Given the description of an element on the screen output the (x, y) to click on. 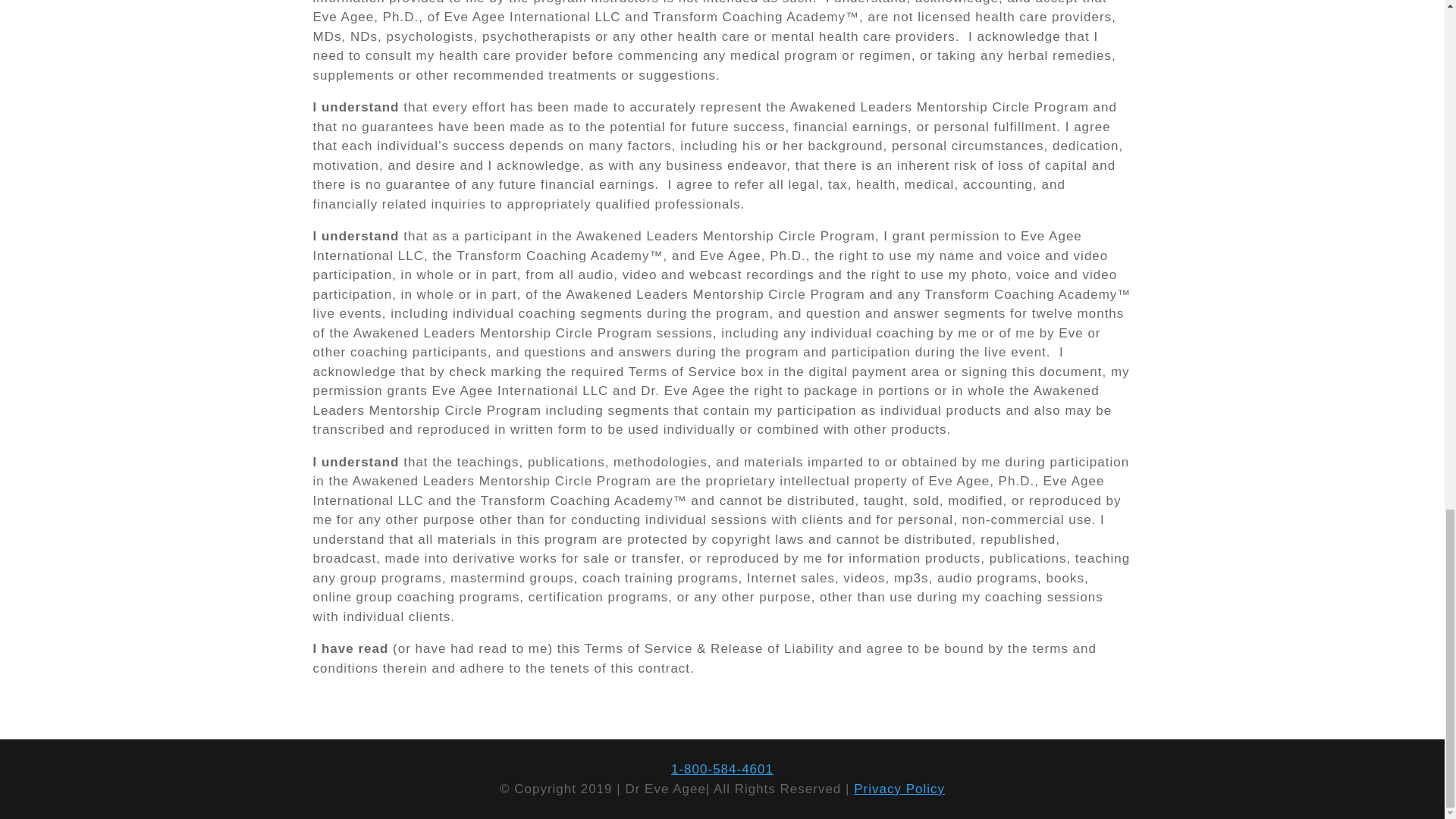
Privacy Policy (898, 789)
1-800-584-4601 (722, 769)
